Given the description of an element on the screen output the (x, y) to click on. 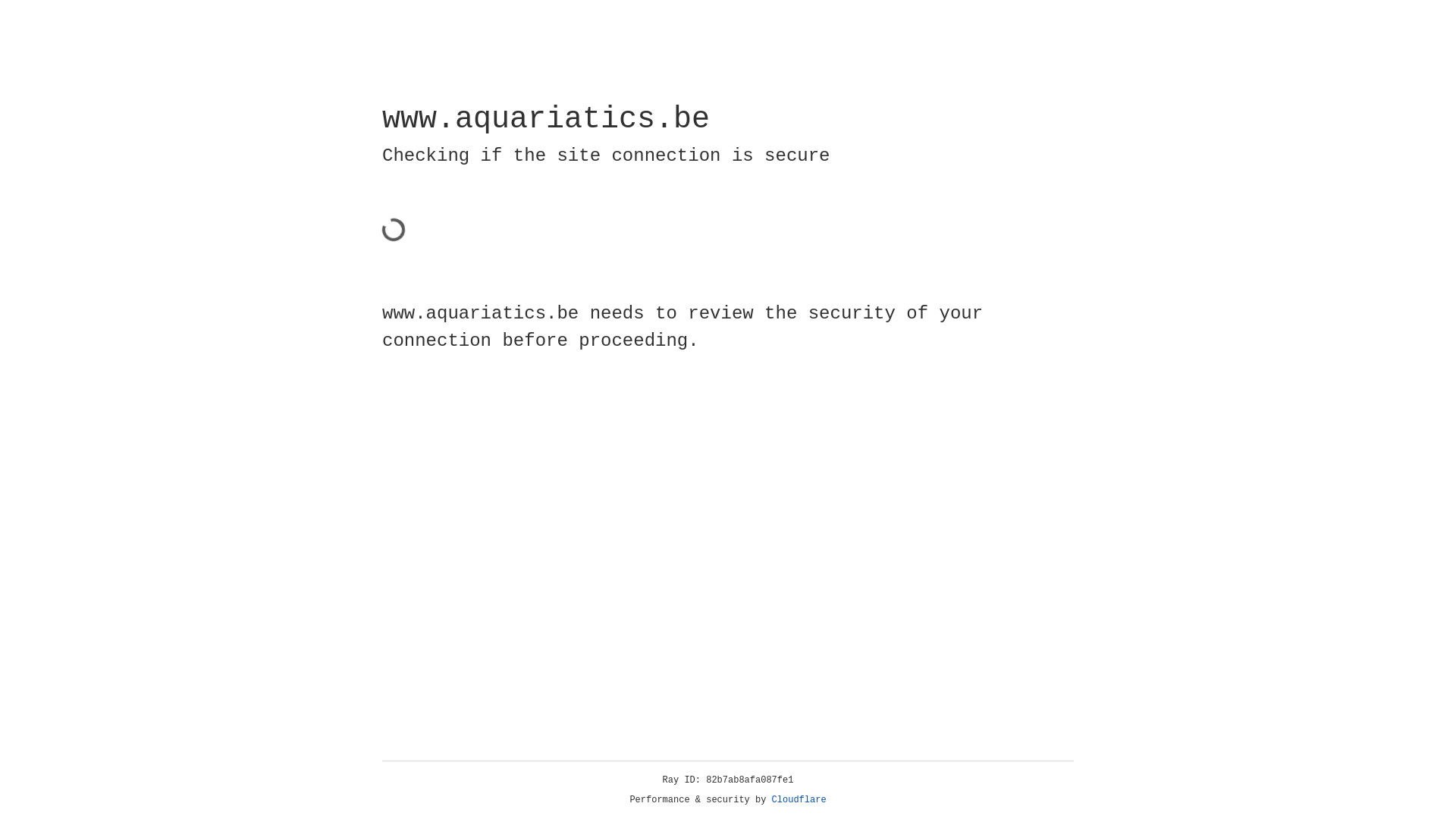
Cloudflare Element type: text (798, 799)
